Given the description of an element on the screen output the (x, y) to click on. 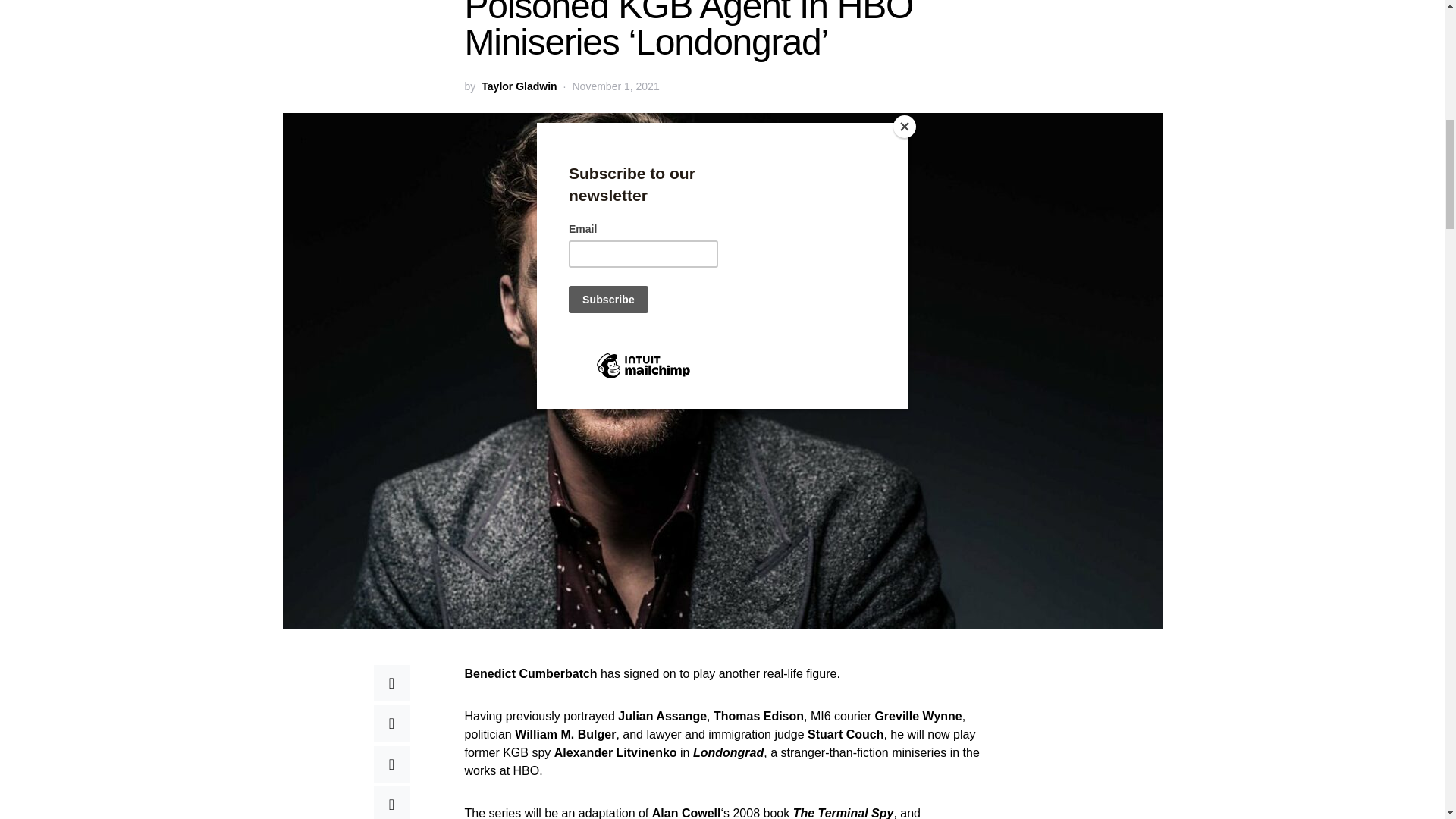
View all posts by Taylor Gladwin (518, 86)
